Given the description of an element on the screen output the (x, y) to click on. 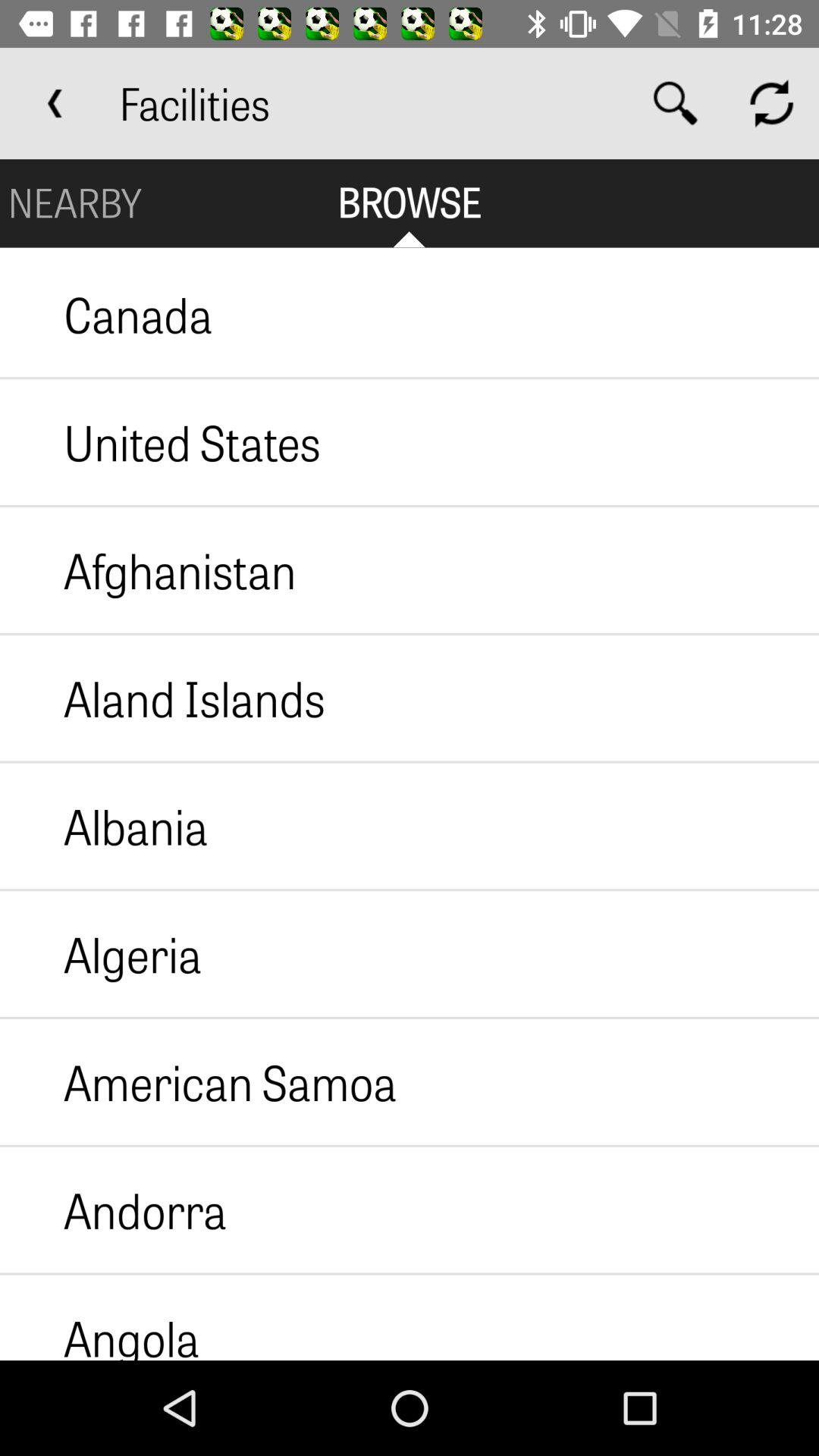
flip to american samoa item (198, 1081)
